Given the description of an element on the screen output the (x, y) to click on. 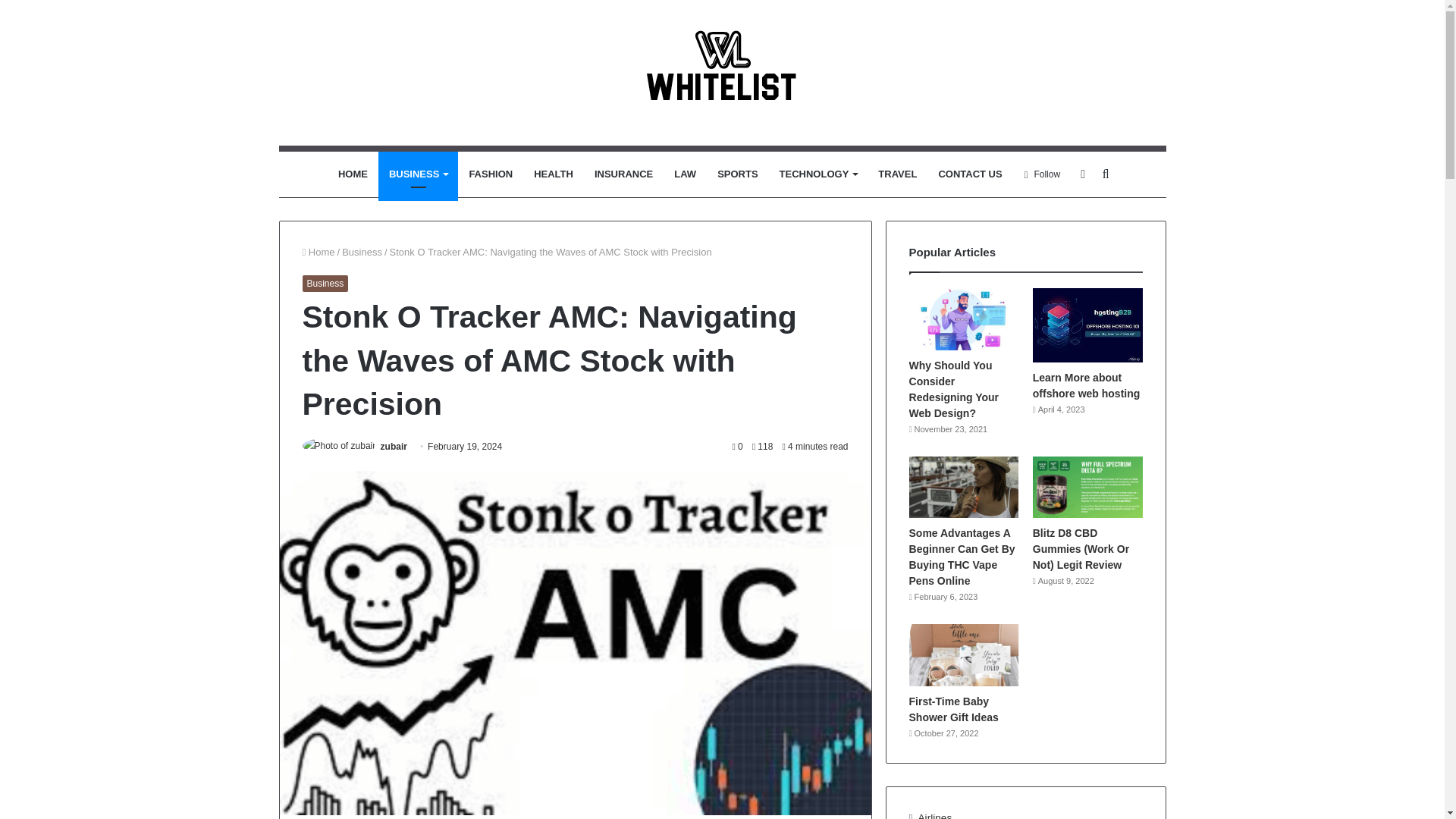
Business (361, 251)
zubair (393, 446)
Home (317, 251)
Business (324, 283)
HEALTH (552, 174)
Follow (1042, 174)
zubair (393, 446)
SPORTS (737, 174)
TRAVEL (897, 174)
INSURANCE (623, 174)
LAW (684, 174)
BUSINESS (418, 174)
TECHNOLOGY (817, 174)
White List (722, 72)
HOME (352, 174)
